Given the description of an element on the screen output the (x, y) to click on. 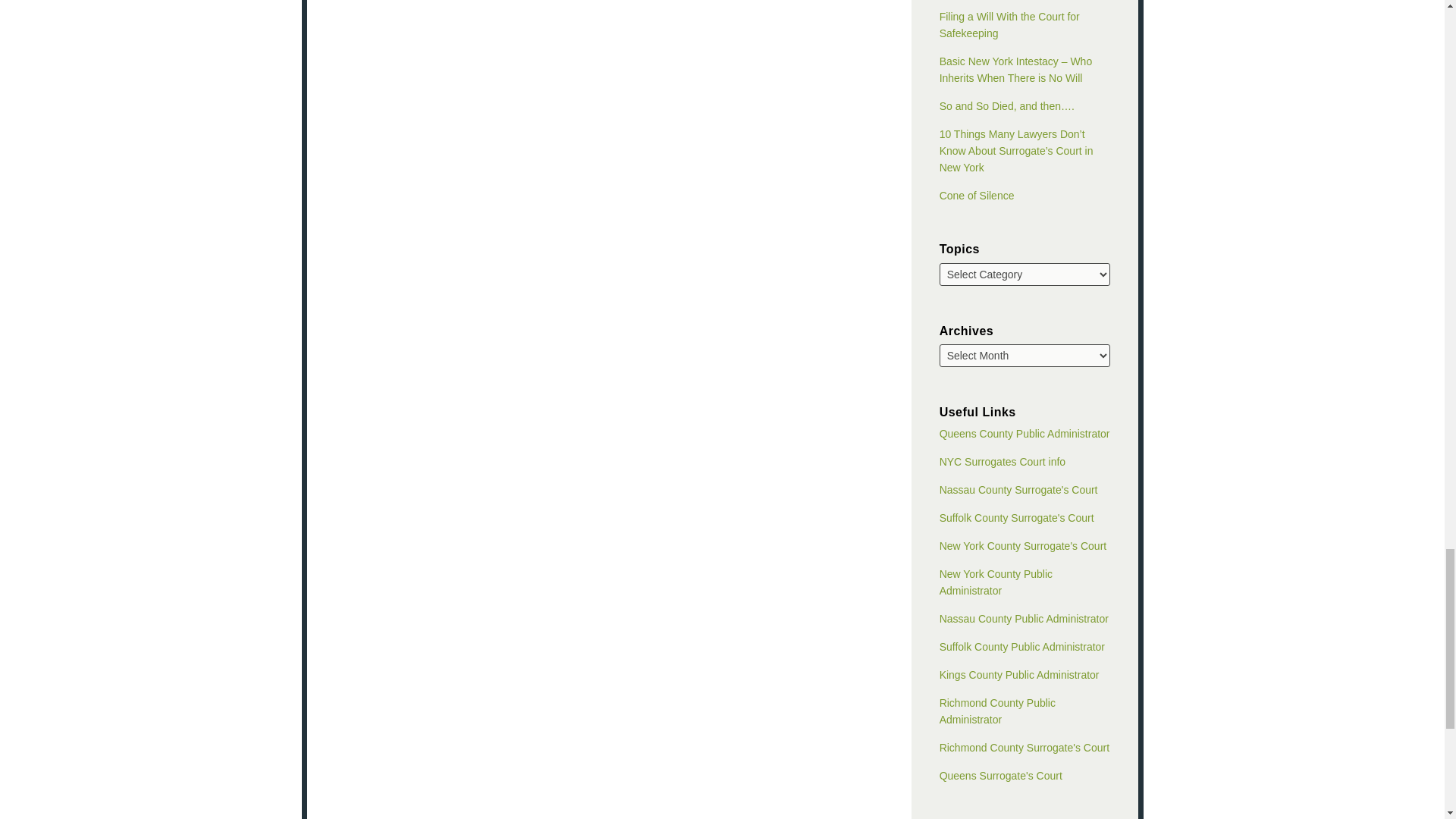
Nassau County Public Administrator Info (1023, 618)
Nassau County Surrogates Court info (1018, 490)
Suffolk County Public Administrator Info (1022, 646)
New York County Public Administrator Info (995, 582)
